Given the description of an element on the screen output the (x, y) to click on. 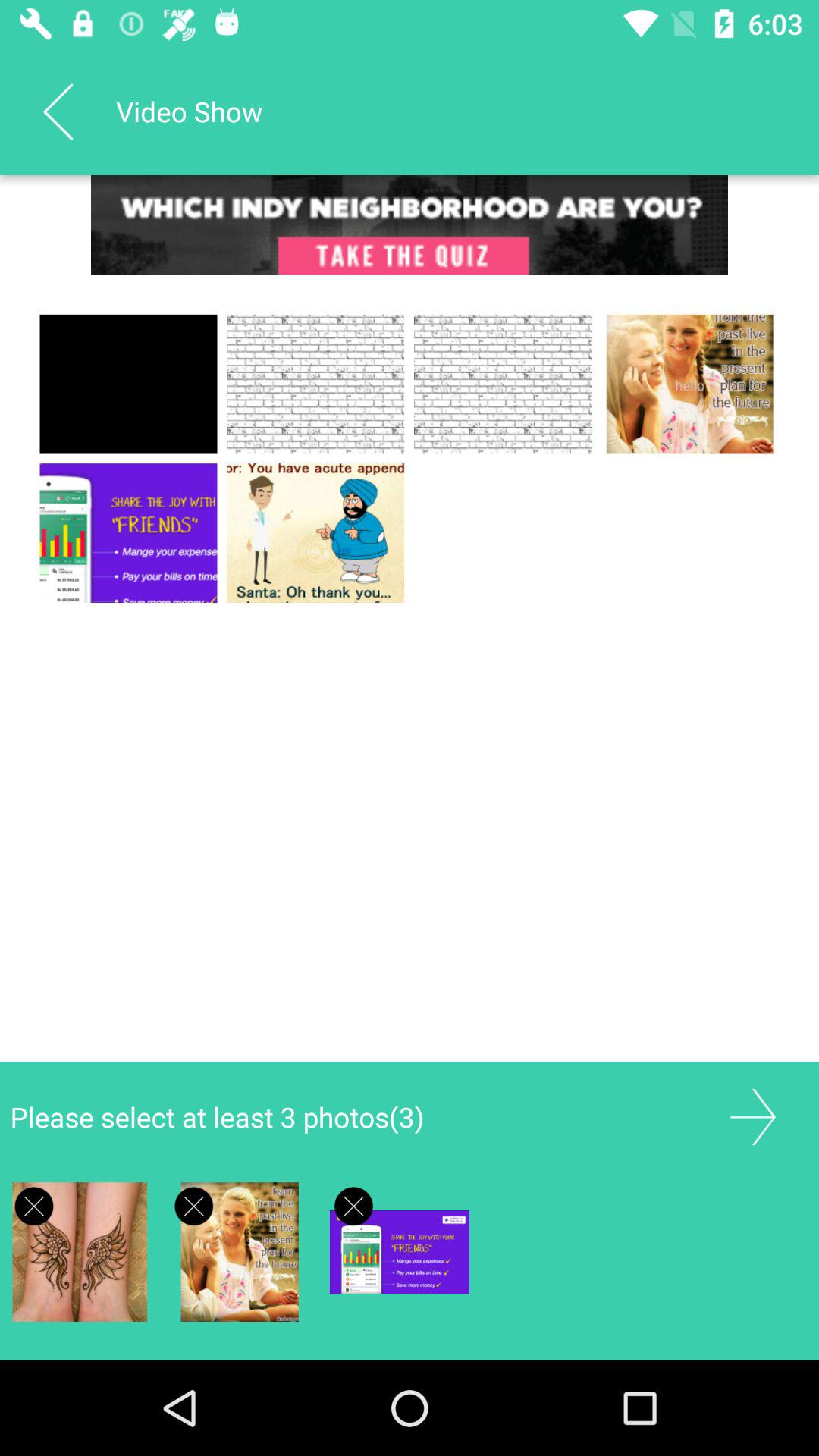
go forward (752, 1116)
